Given the description of an element on the screen output the (x, y) to click on. 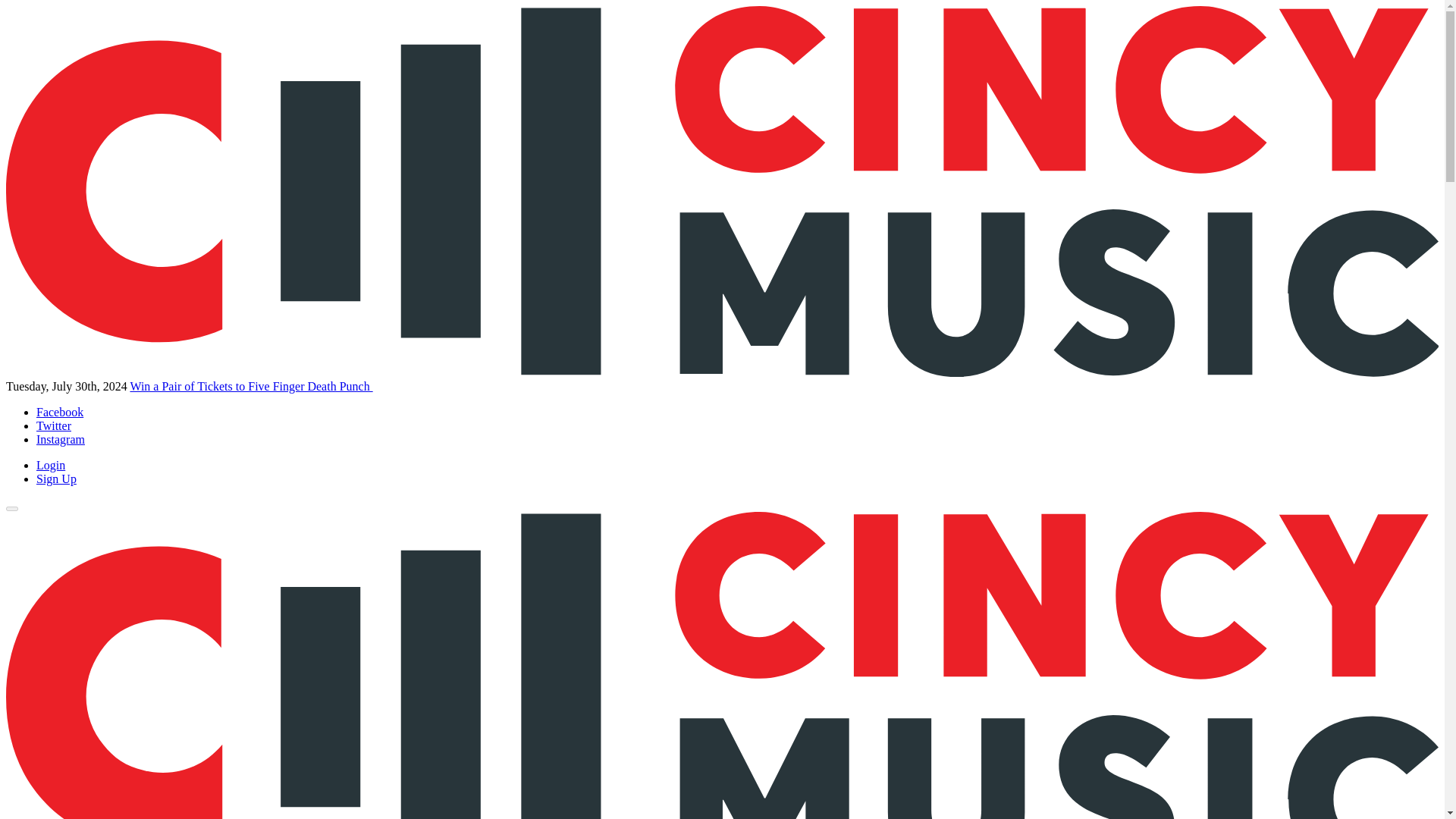
Instagram (60, 439)
Win a Pair of Tickets to Five Finger Death Punch  (250, 386)
Sign Up (56, 478)
Twitter (53, 425)
Facebook (59, 411)
Login (50, 464)
